Given the description of an element on the screen output the (x, y) to click on. 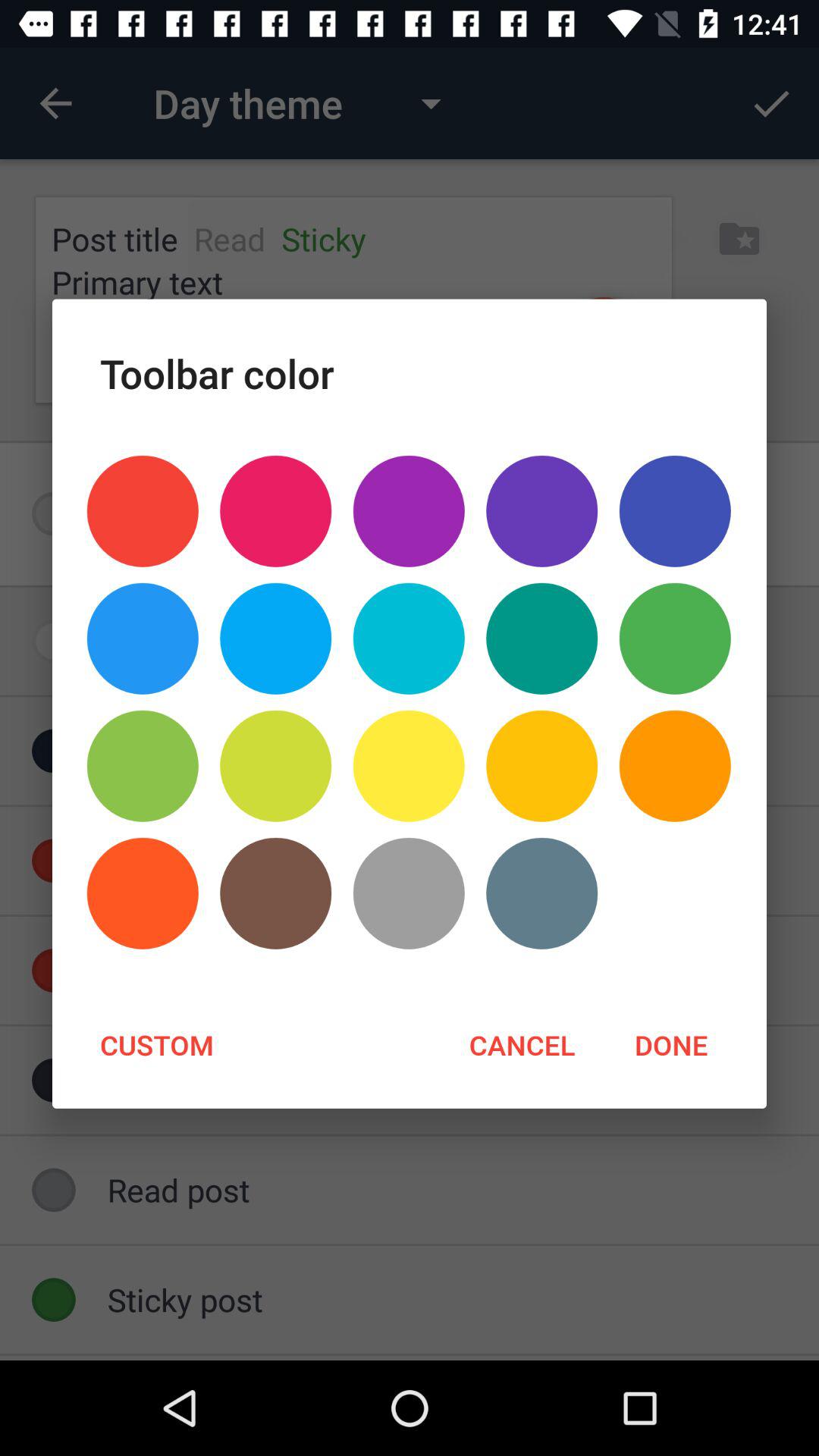
turn off the custom at the bottom left corner (156, 1044)
